Given the description of an element on the screen output the (x, y) to click on. 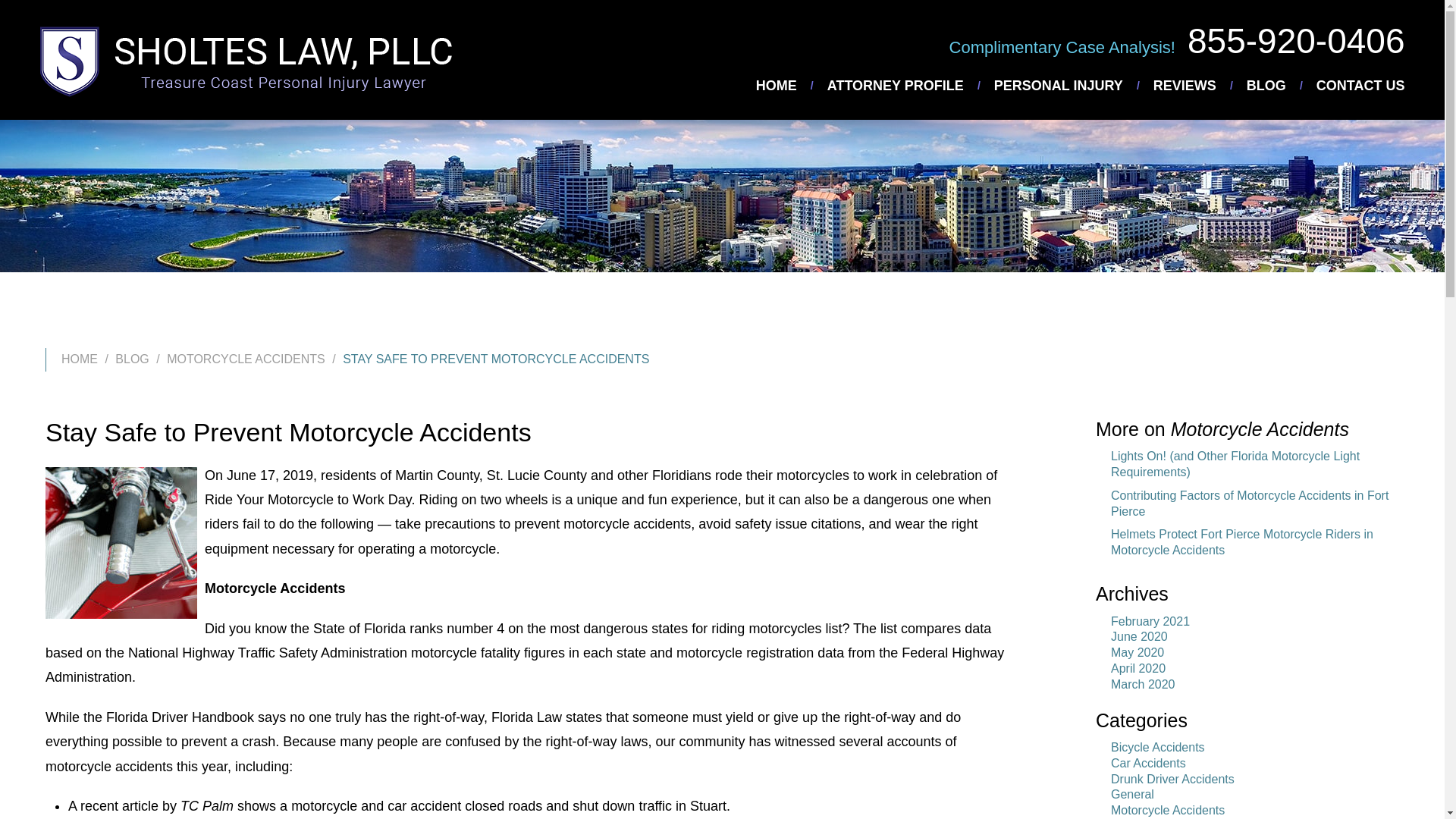
HOME (1099, 85)
PERSONAL INJURY (1320, 85)
ATTORNEY PROFILE (1176, 85)
Motorcycle1 (120, 542)
